Given the description of an element on the screen output the (x, y) to click on. 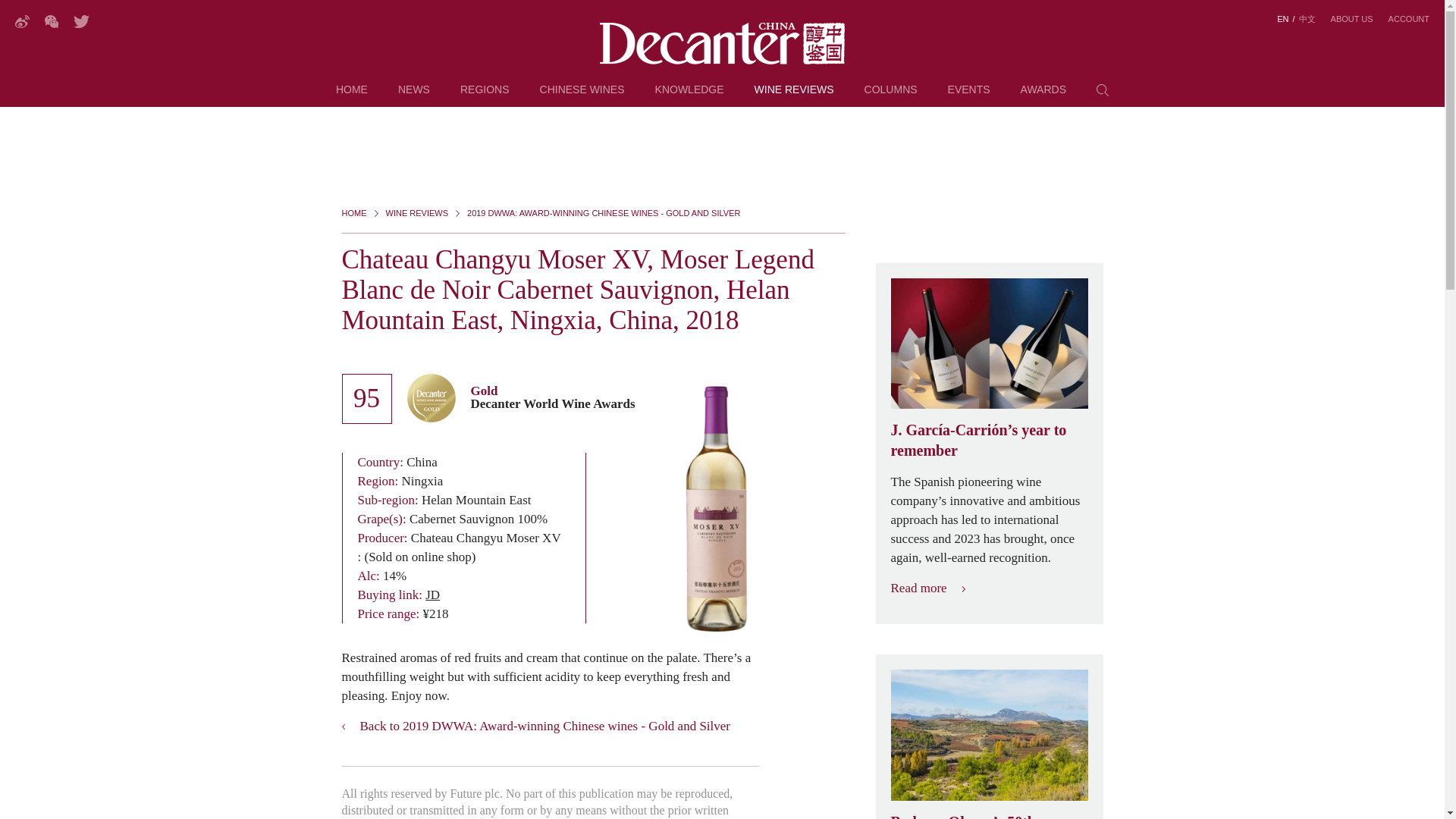
ABOUT US (1351, 18)
EN (1282, 18)
KNOWLEDGE (689, 95)
NEWS (413, 95)
REGIONS (484, 95)
AWARDS (1042, 95)
WINE REVIEWS (794, 95)
ACCOUNT (1409, 18)
EVENTS (968, 95)
DECANTER CHINA (721, 43)
